Given the description of an element on the screen output the (x, y) to click on. 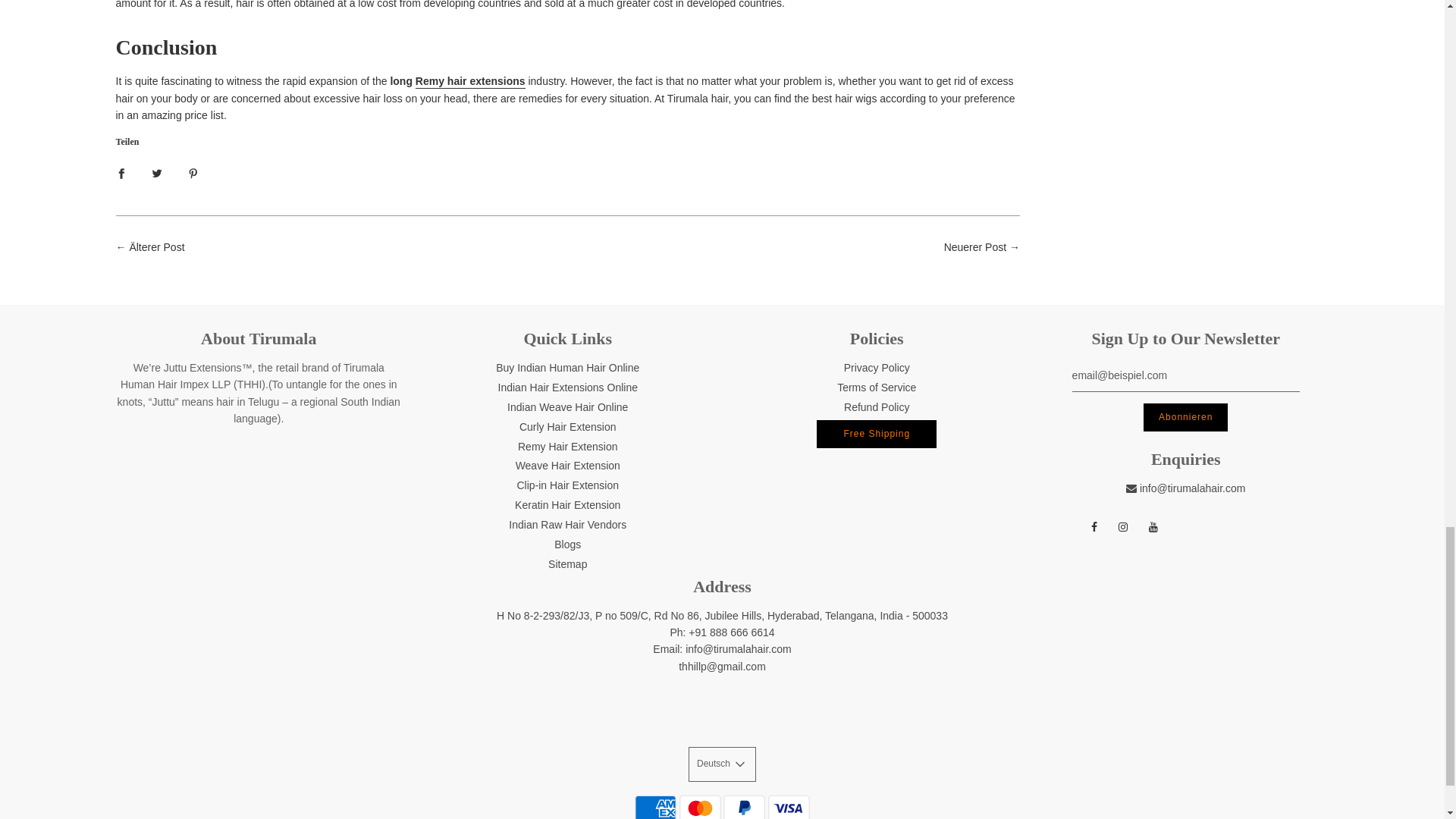
PayPal (744, 806)
Mastercard (699, 806)
Visa (788, 806)
Abonnieren (1184, 417)
American Express (655, 806)
